Given the description of an element on the screen output the (x, y) to click on. 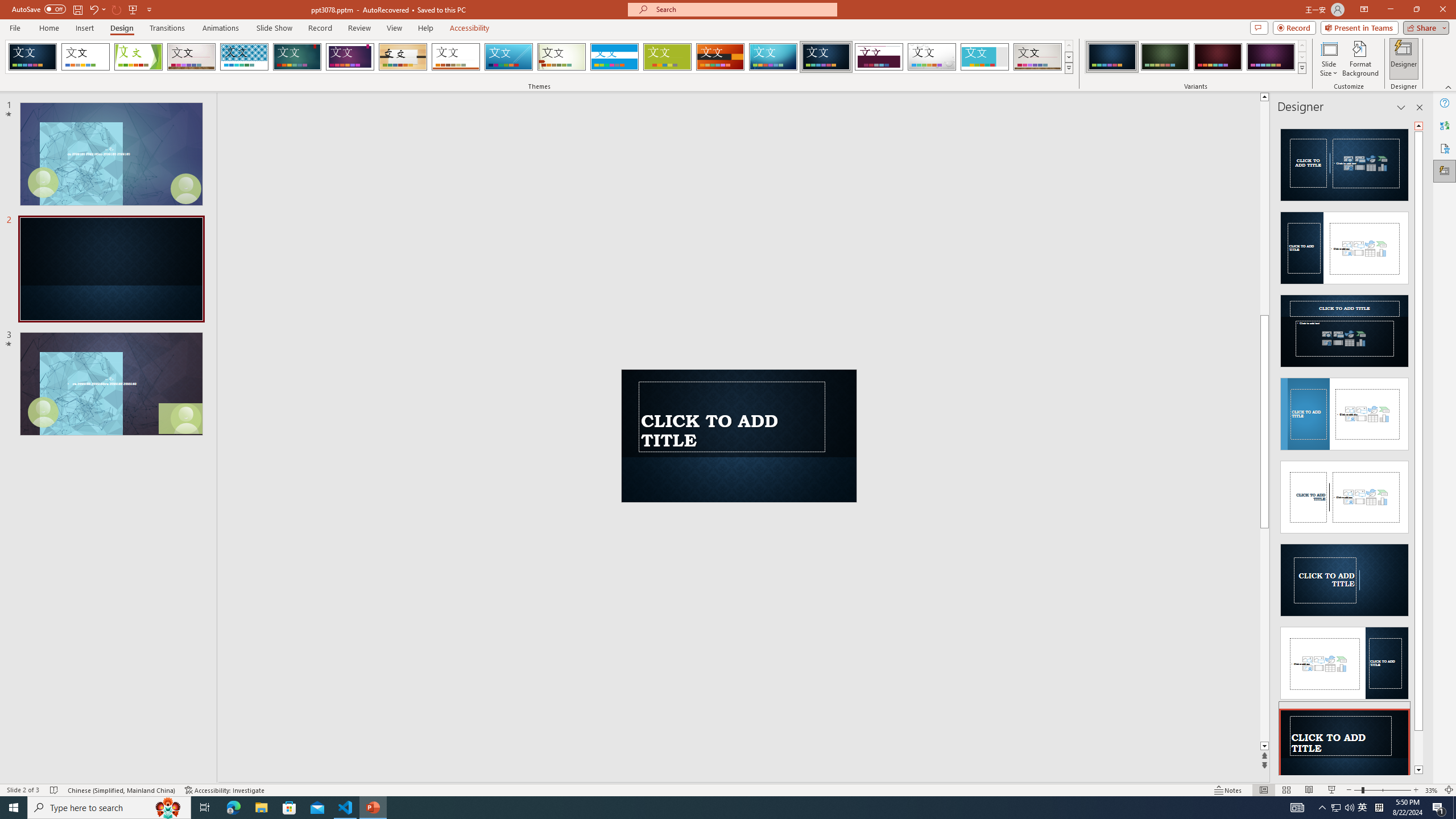
Circuit (772, 56)
Facet (138, 56)
AutomationID: ThemeVariantsGallery (1195, 56)
Ion Boardroom (350, 56)
